Given the description of an element on the screen output the (x, y) to click on. 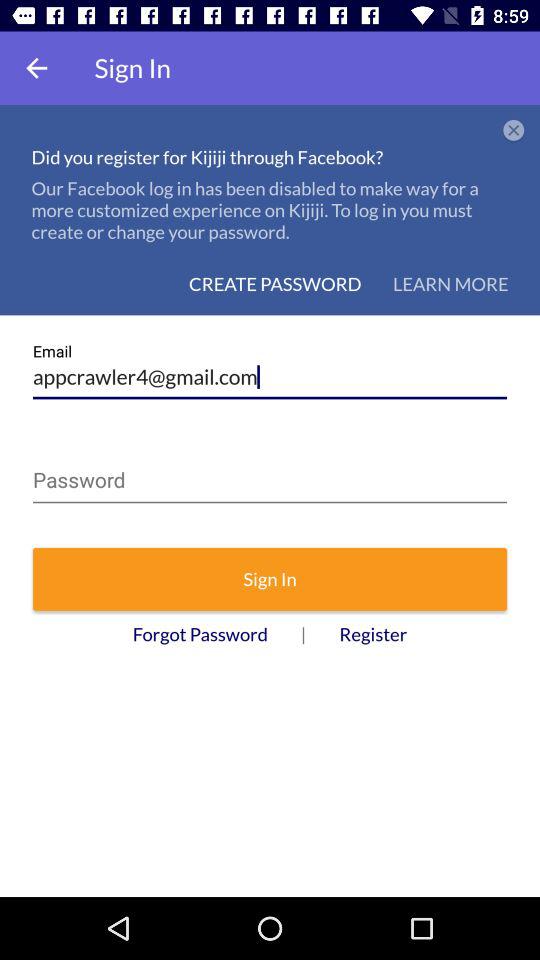
click learn more icon (450, 283)
